Given the description of an element on the screen output the (x, y) to click on. 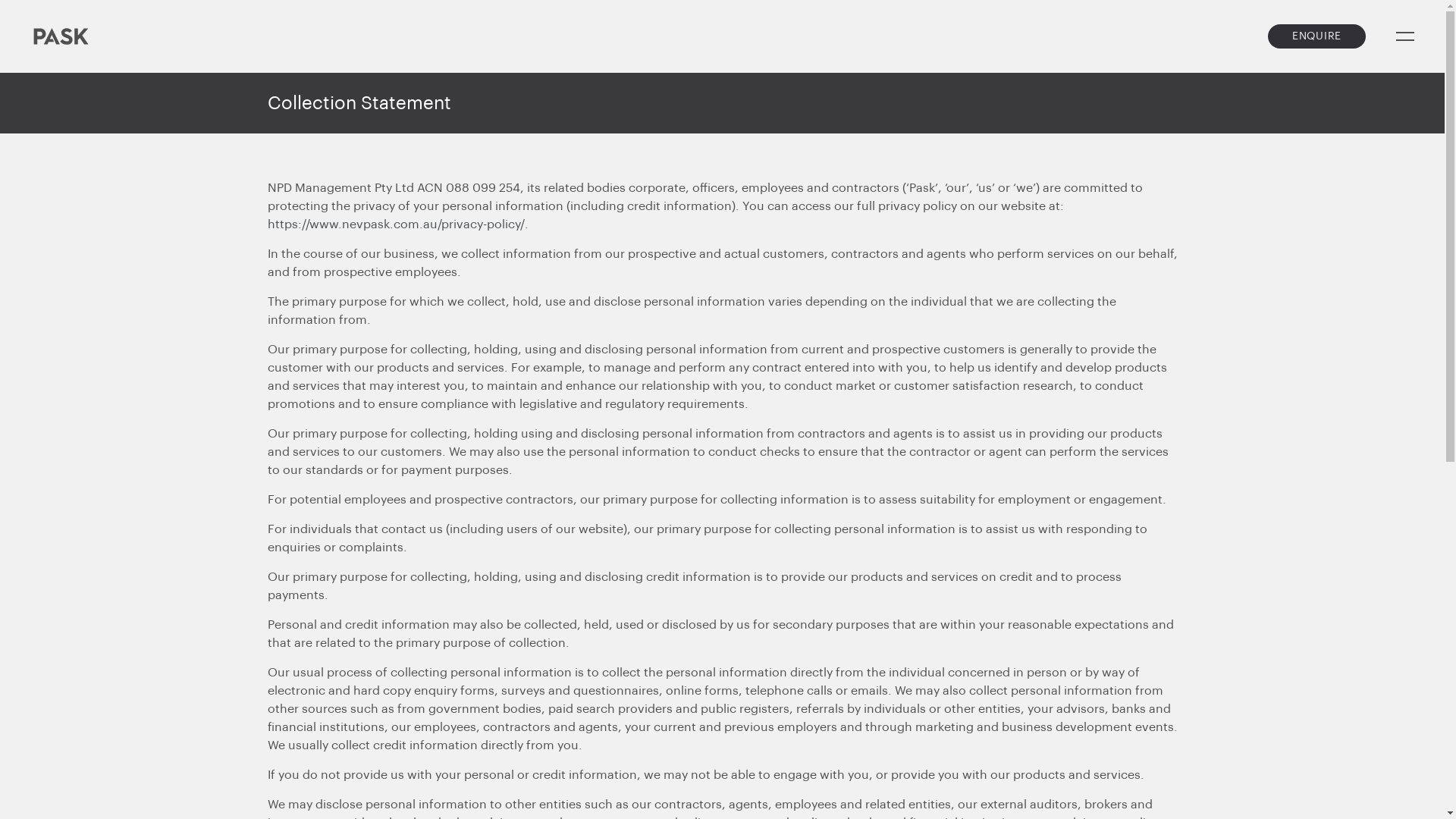
ENQUIRE Element type: text (1316, 36)
Menu Element type: text (1405, 36)
https://www.nevpask.com.au/privacy-policy/ Element type: text (395, 224)
